Given the description of an element on the screen output the (x, y) to click on. 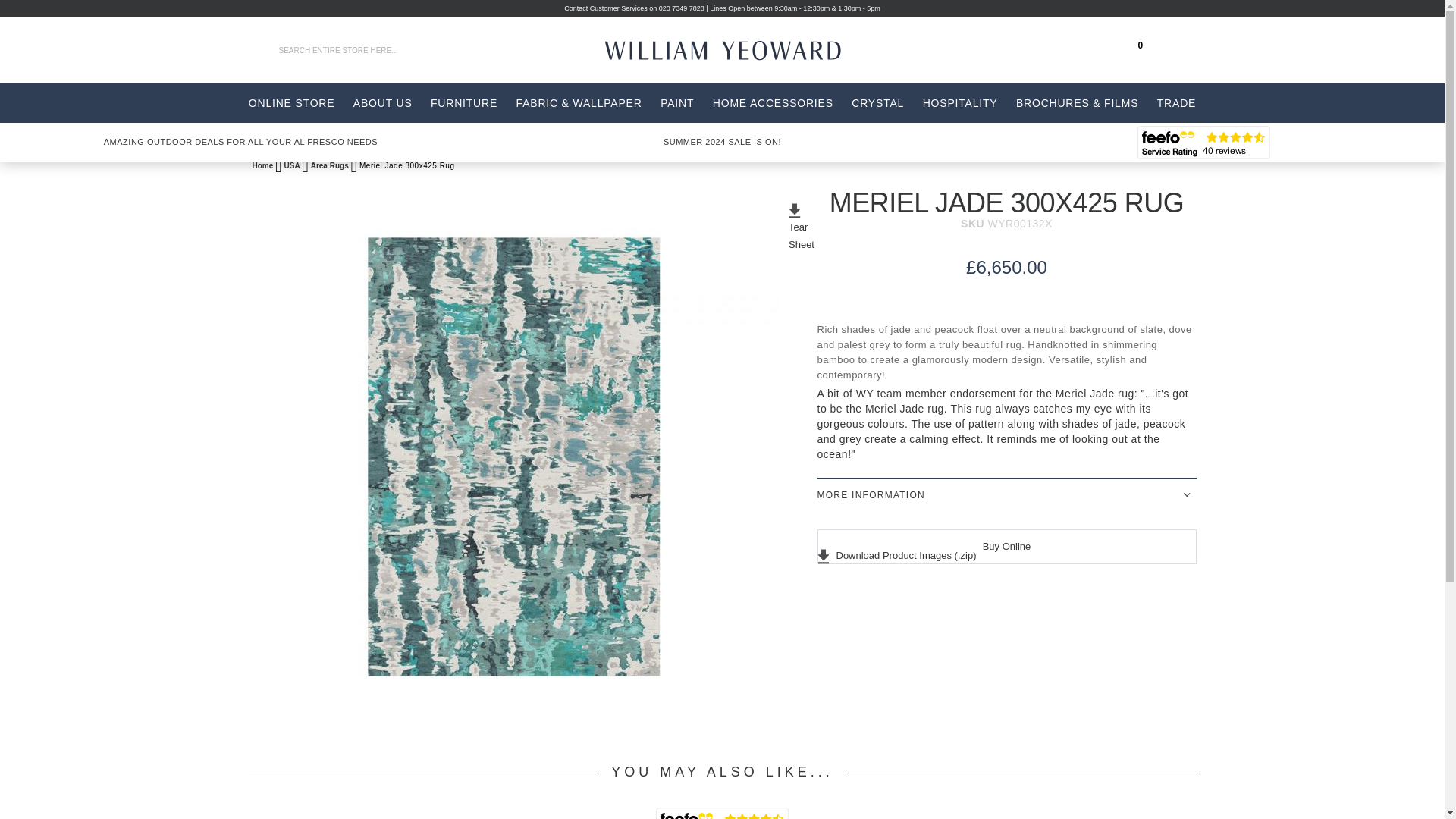
Go to Home Page (263, 165)
ONLINE STORE (291, 102)
AMAZING OUTDOOR DEALS FOR ALL YOUR AL FRESCO NEEDS (240, 141)
William Yeoward (740, 50)
020 7349 7828 (681, 8)
See what our customers say about us (1203, 142)
William Yeoward (739, 50)
SUMMER 2024 SALE IS ON! (721, 141)
